Given the description of an element on the screen output the (x, y) to click on. 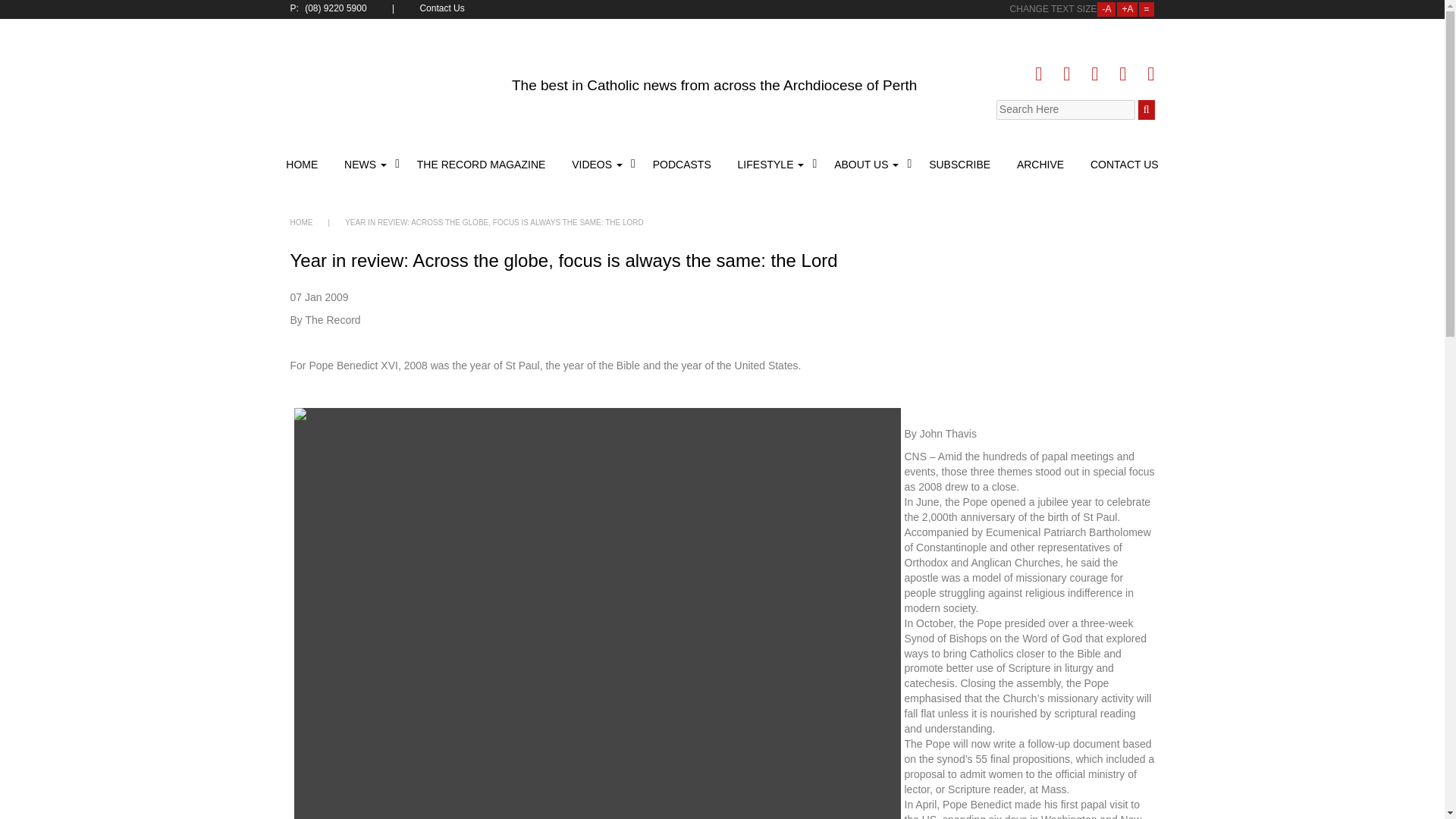
HOME (301, 222)
Our Instagram page (1146, 74)
LIFESTYLE (772, 164)
Our Facebook page (1043, 74)
Go to The Record. (301, 222)
CONTACT US (1122, 164)
ABOUT US (867, 164)
VIDEOS (598, 164)
SUBSCRIBE (959, 164)
The Record (389, 80)
Our Linked In page (1093, 74)
Our Youtube page (1122, 74)
THE RECORD MAGAZINE (481, 164)
Our Twitter page (1066, 74)
HOME (303, 164)
